Given the description of an element on the screen output the (x, y) to click on. 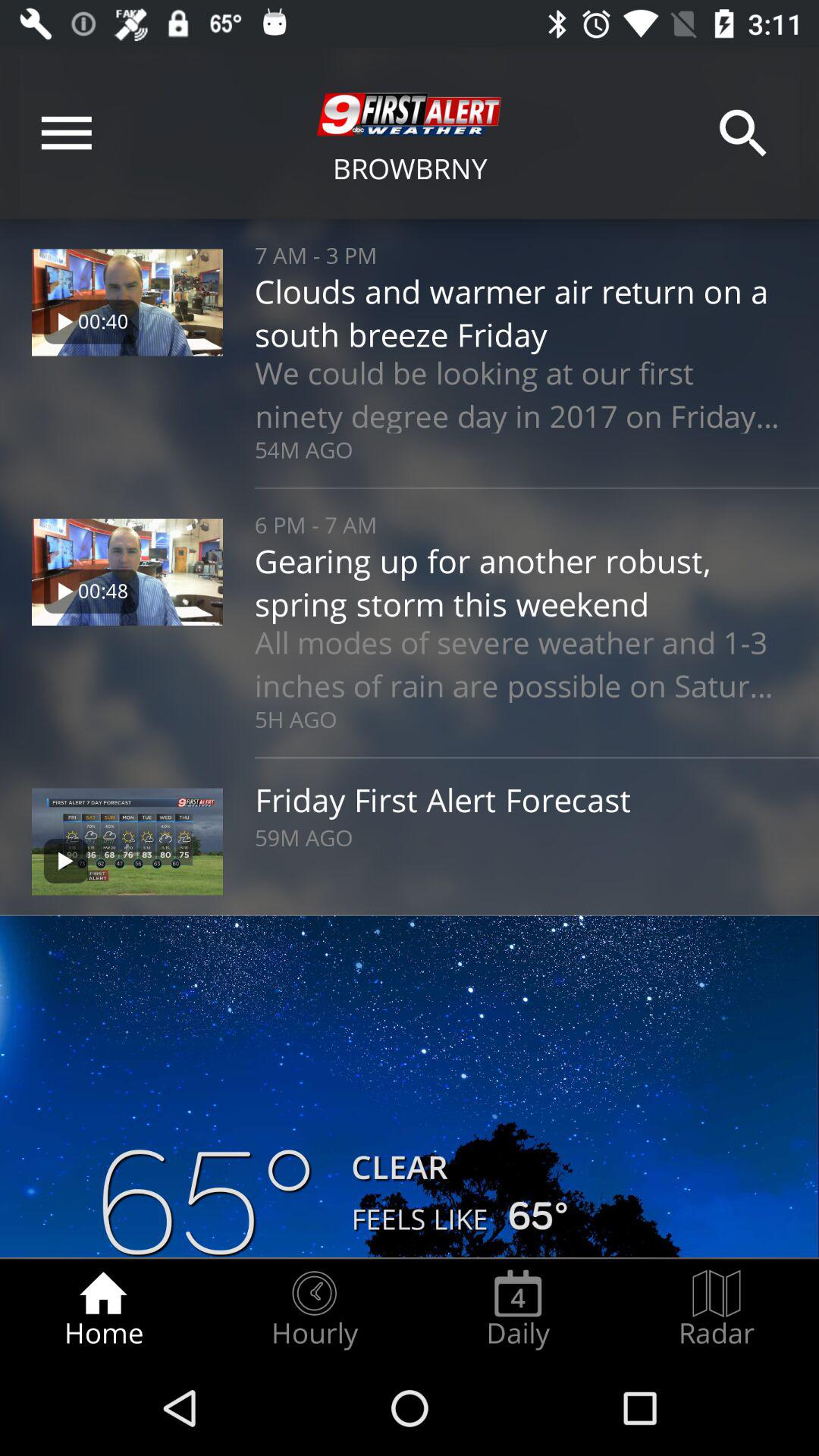
launch radio button at the bottom right corner (716, 1309)
